Given the description of an element on the screen output the (x, y) to click on. 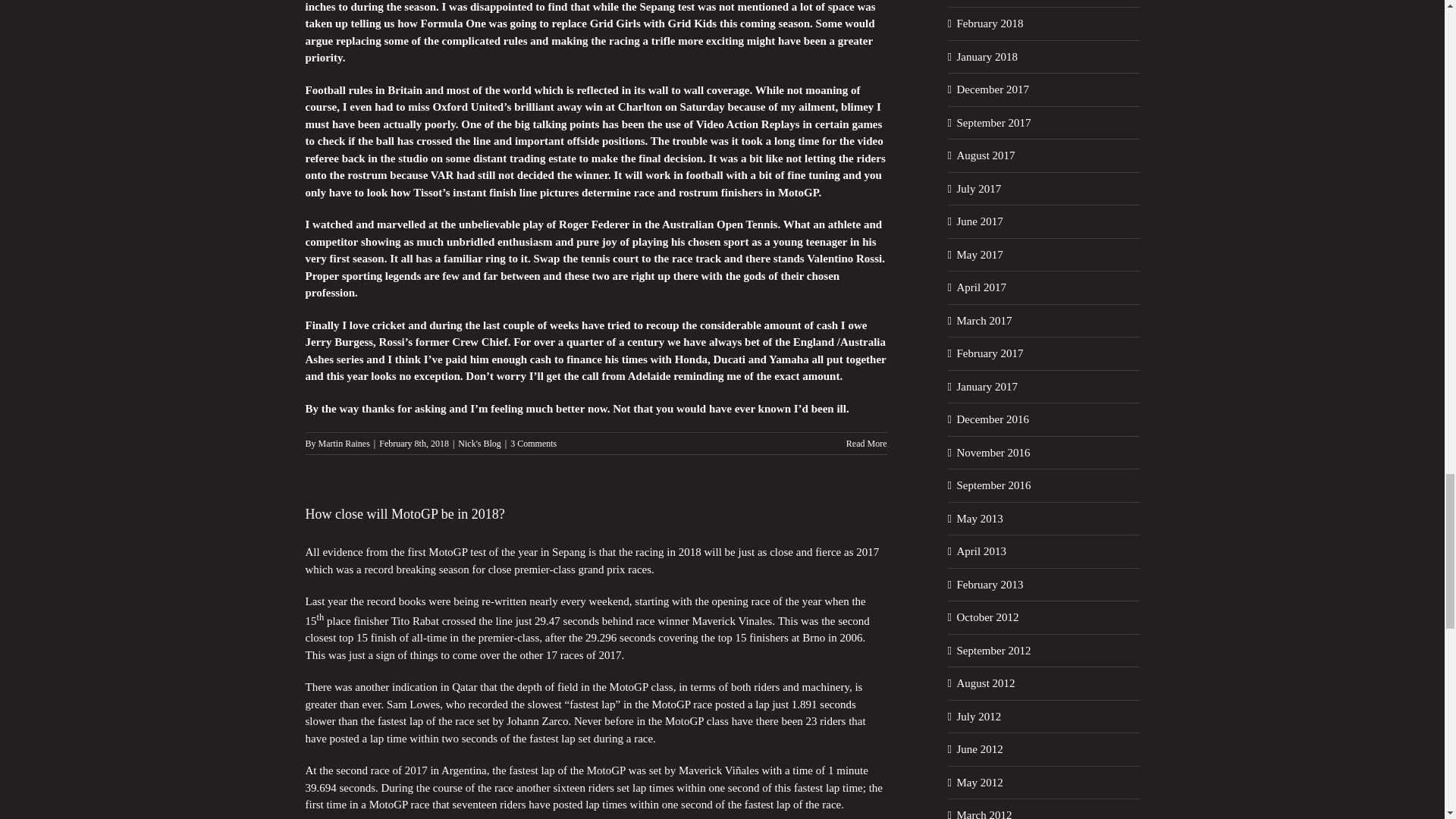
Posts by Martin Raines (343, 443)
